Given the description of an element on the screen output the (x, y) to click on. 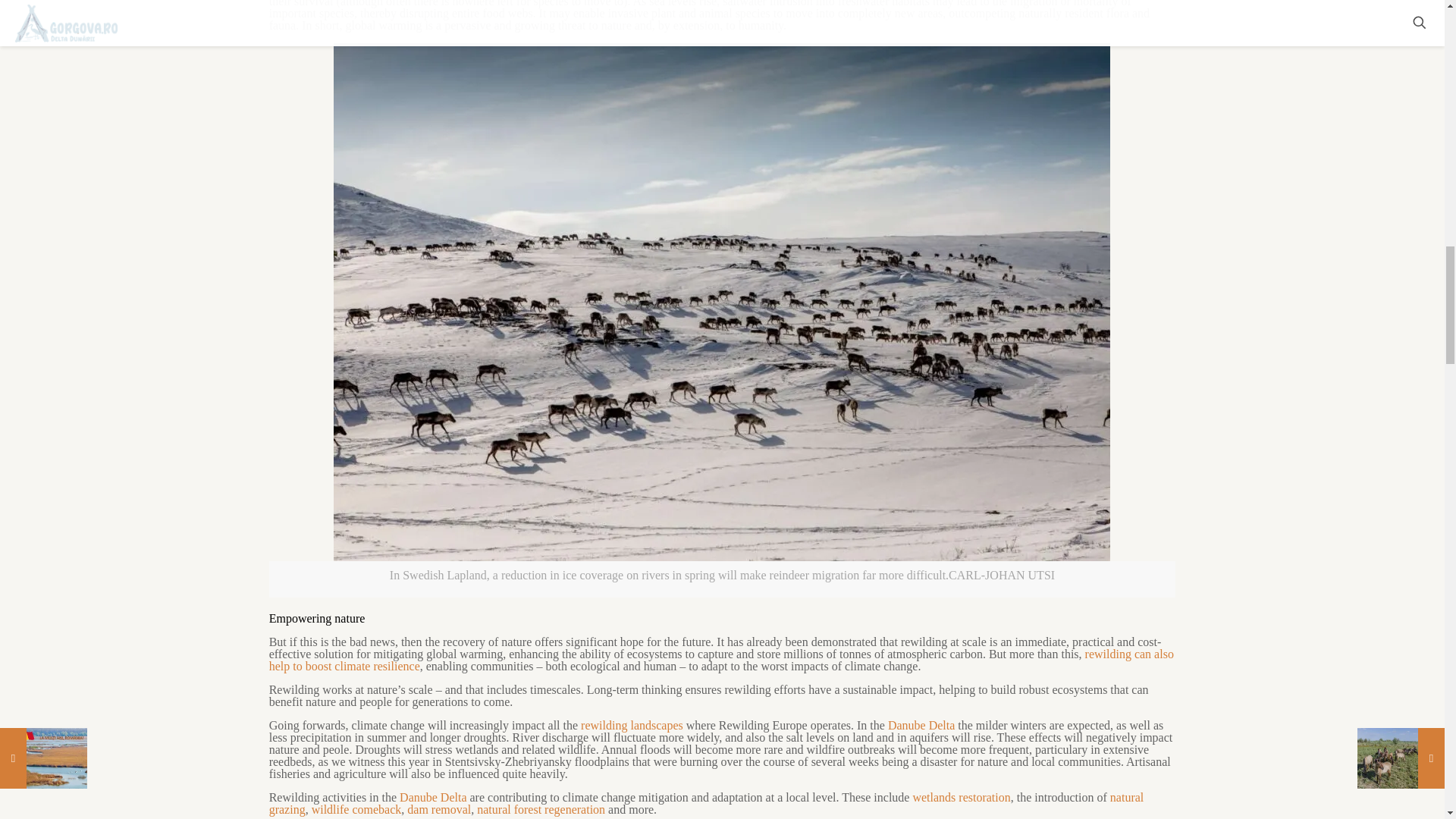
Danube Delta (431, 797)
natural grazing (706, 803)
Danube Delta (921, 725)
rewilding landscapes (631, 725)
wetlands restoration (961, 797)
wildlife comeback (356, 809)
natural forest regeneration (541, 809)
dam removal (438, 809)
rewilding can also help to boost climate resilience (721, 659)
